Given the description of an element on the screen output the (x, y) to click on. 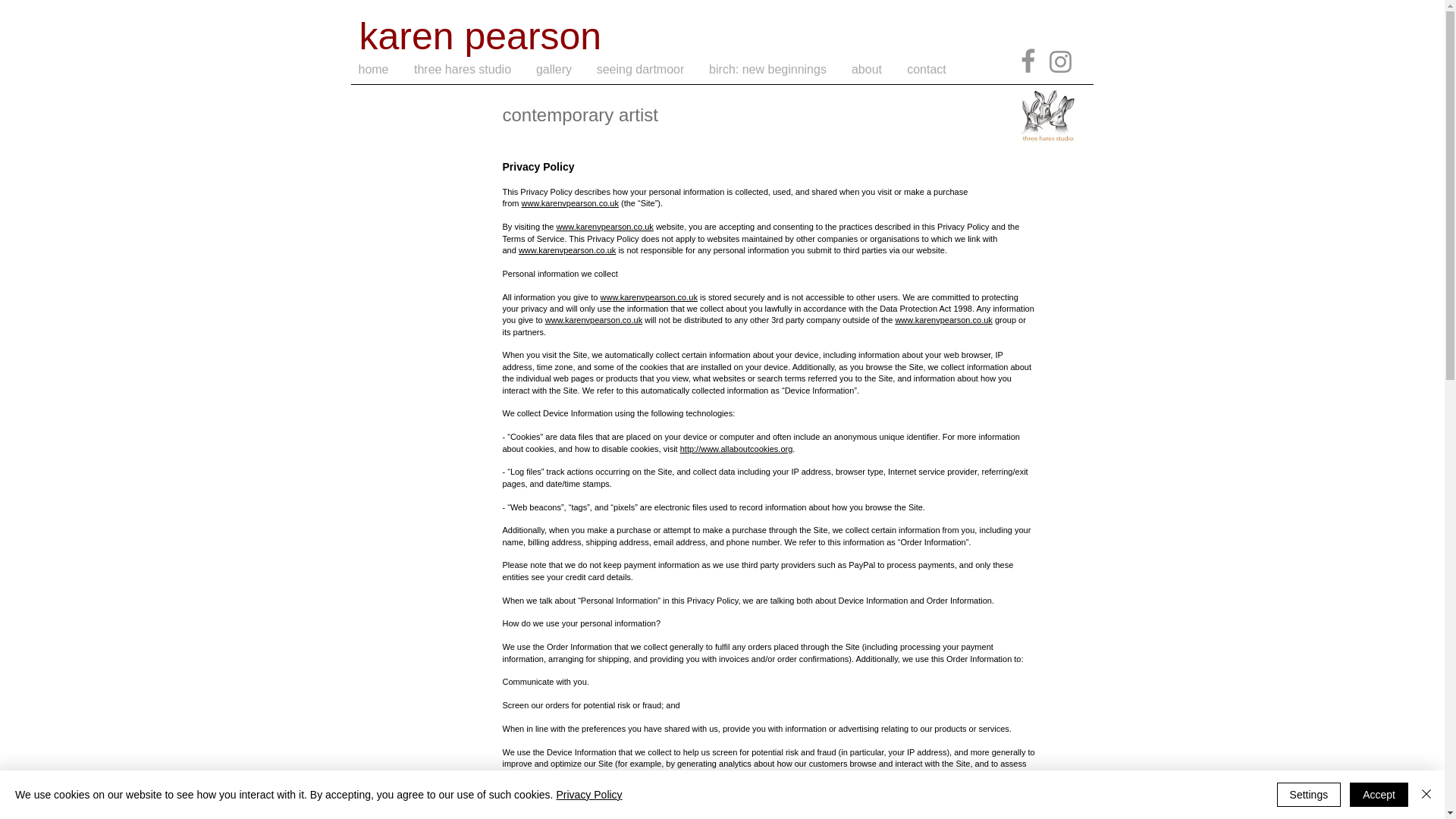
www.karenvpearson.co.uk (943, 319)
gallery (552, 69)
www.karenvpearson.co.uk (569, 203)
home (373, 69)
www.karenvpearson.co.uk (648, 297)
www.karenvpearson.co.uk (566, 249)
birch: new beginnings (766, 69)
Accept (1378, 794)
about (865, 69)
contact (927, 69)
three hares studio (462, 69)
Privacy Policy (588, 794)
www.karenvpearson.co.uk (604, 225)
seeing dartmoor (639, 69)
Settings (1308, 794)
